Given the description of an element on the screen output the (x, y) to click on. 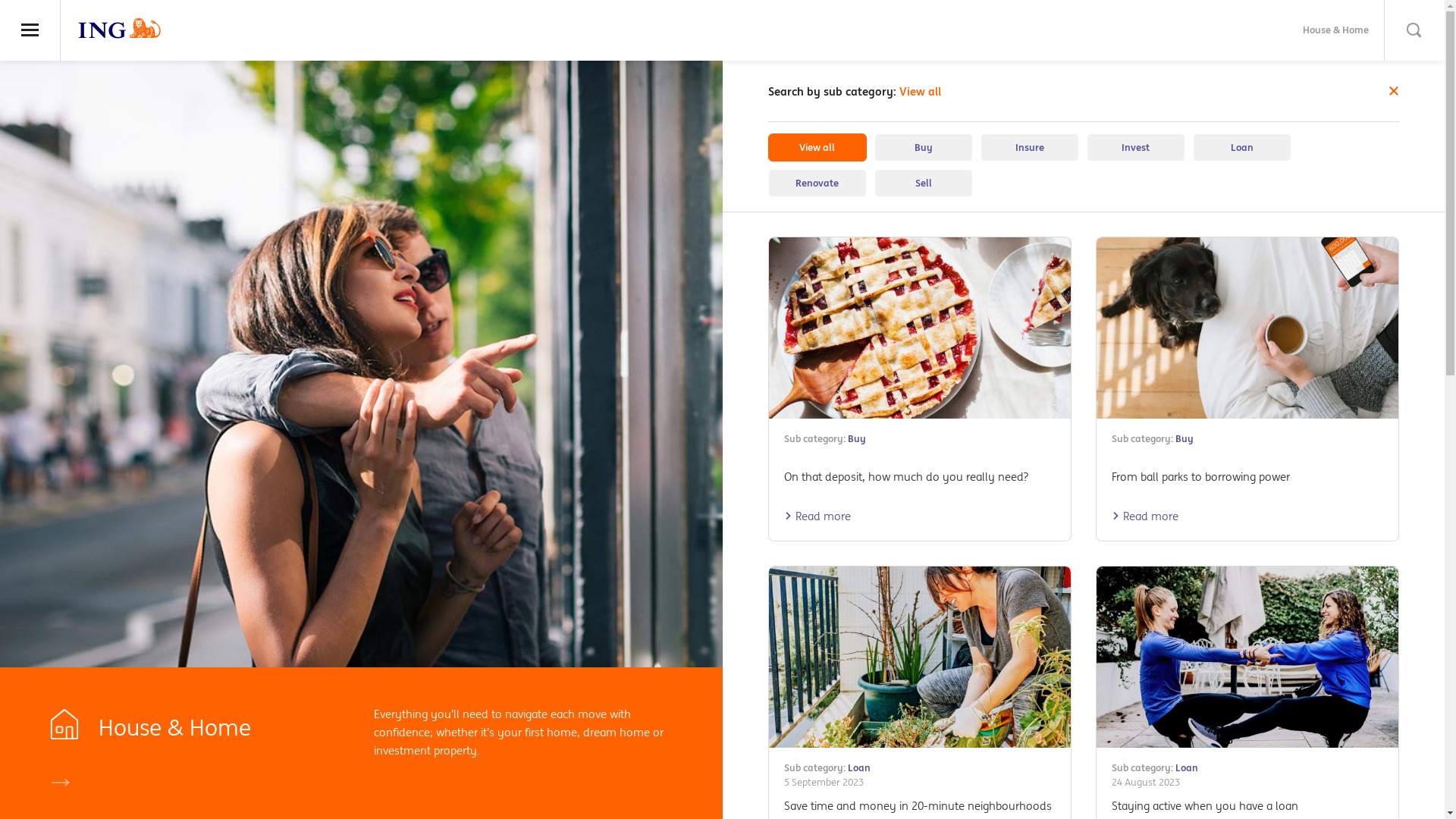
Loan Element type: text (1186, 767)
Save time and money in 20-minute neighbourhoods Element type: text (917, 805)
Read more Element type: text (1144, 515)
Read more Element type: text (817, 515)
Loan Element type: text (858, 767)
From ball parks to borrowing power Element type: text (1200, 476)
ING Blog Element type: hover (119, 27)
Renovate Element type: text (816, 183)
View all Element type: text (816, 147)
Sell Element type: text (922, 183)
Insure Element type: text (1028, 147)
On that deposit, how much do you really need? Element type: text (906, 476)
Buy Element type: text (922, 147)
Loan Element type: text (1241, 147)
Buy Element type: text (856, 438)
Buy Element type: text (1184, 438)
Invest Element type: text (1134, 147)
Staying active when you have a loan Element type: text (1204, 805)
